Given the description of an element on the screen output the (x, y) to click on. 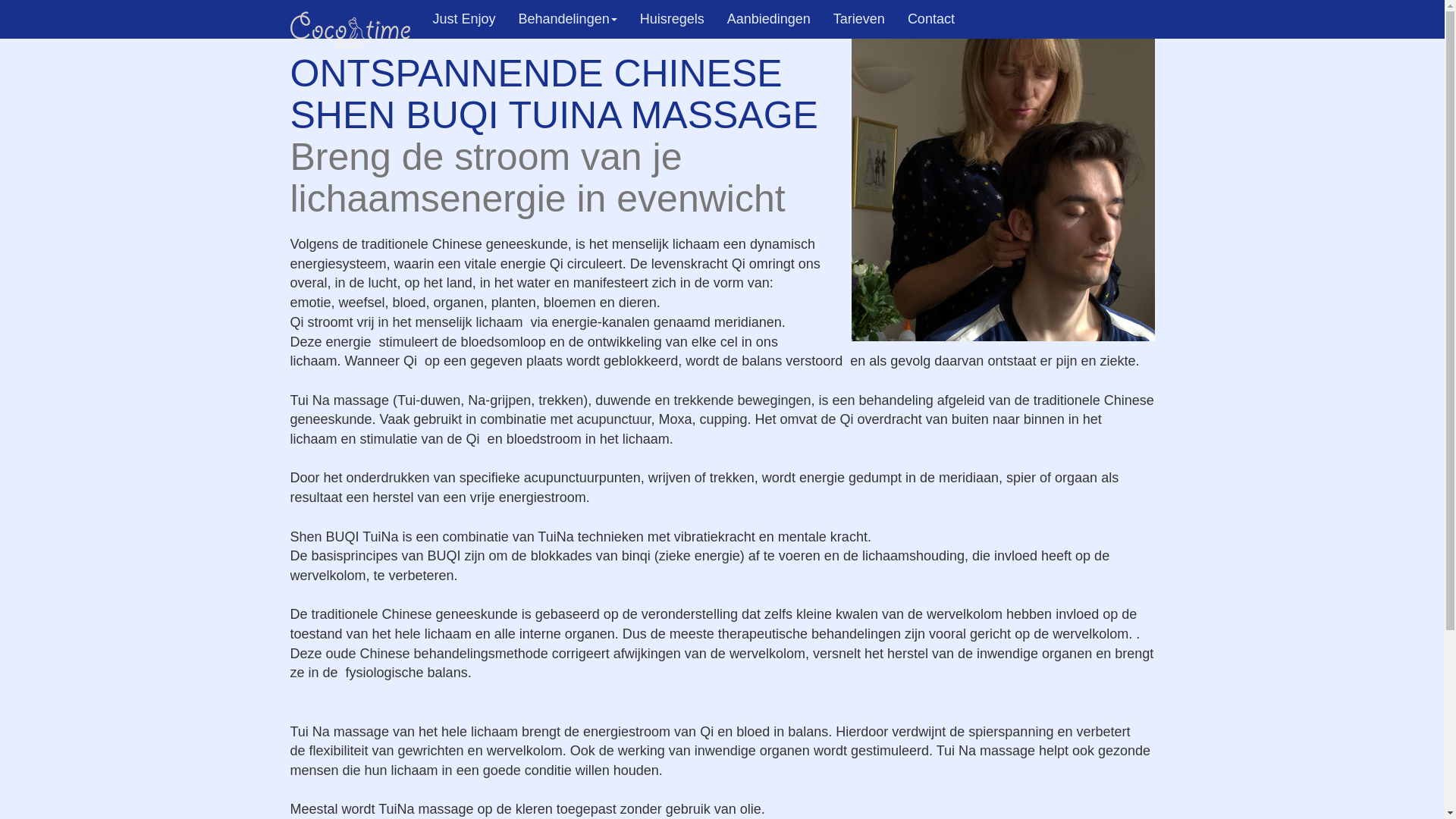
Aanbiedingen Element type: text (768, 18)
Contact Element type: text (931, 18)
Tarieven Element type: text (859, 18)
Huisregels Element type: text (671, 18)
Just Enjoy Element type: text (464, 18)
Behandelingen Element type: text (567, 18)
